Given the description of an element on the screen output the (x, y) to click on. 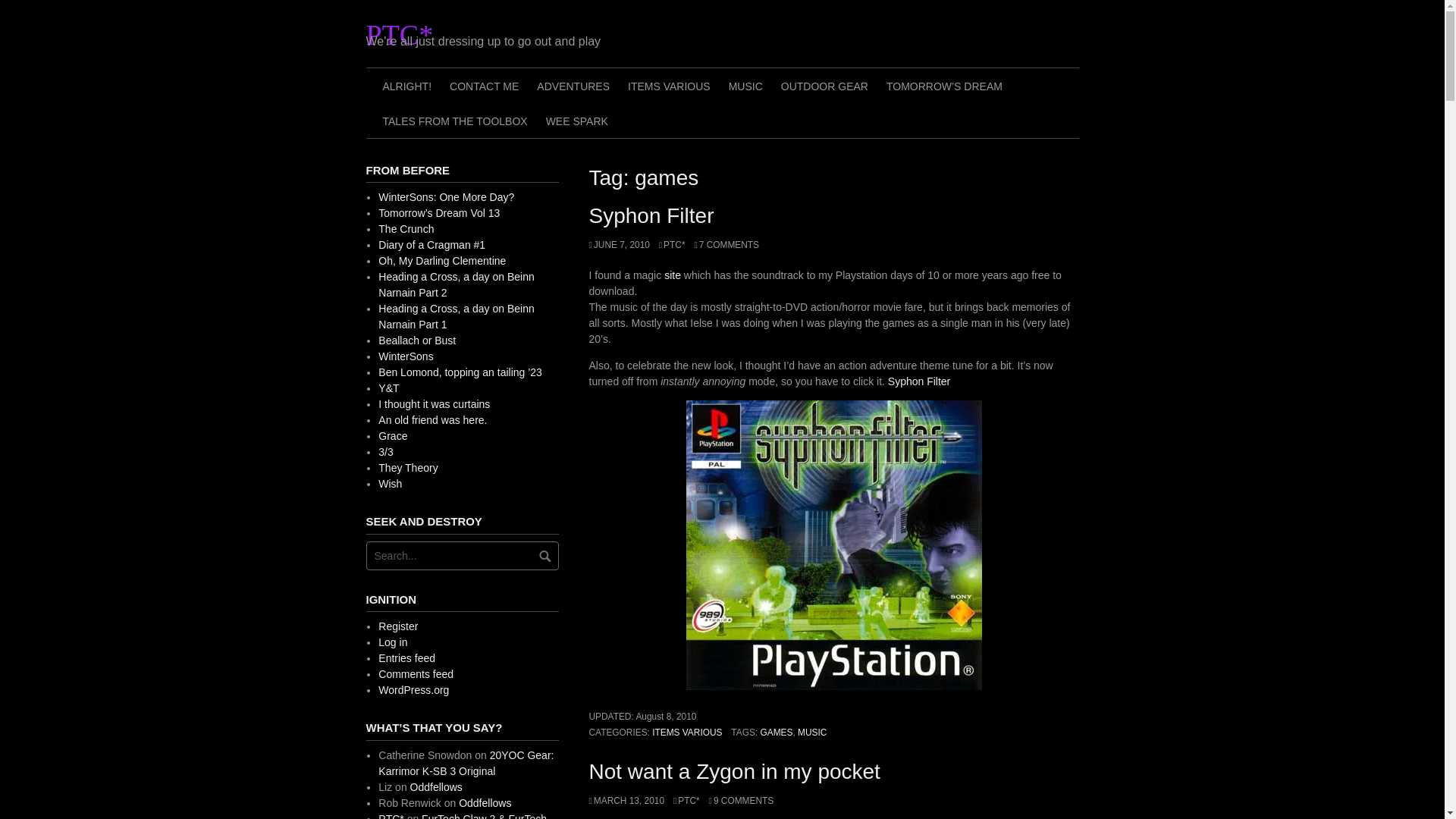
ADVENTURES (572, 85)
TALES FROM THE TOOLBOX (453, 120)
WEE SPARK (577, 120)
Not want a Zygon in my pocket (733, 771)
site (673, 275)
Syphon Filter (919, 381)
Syphon Filter (650, 215)
GAMES (776, 732)
ITEMS VARIOUS (668, 85)
9 COMMENTS (741, 800)
MARCH 13, 2010 (625, 800)
Search for: (461, 555)
CONTACT ME (484, 85)
OUTDOOR GEAR (824, 85)
MUSIC (745, 85)
